Given the description of an element on the screen output the (x, y) to click on. 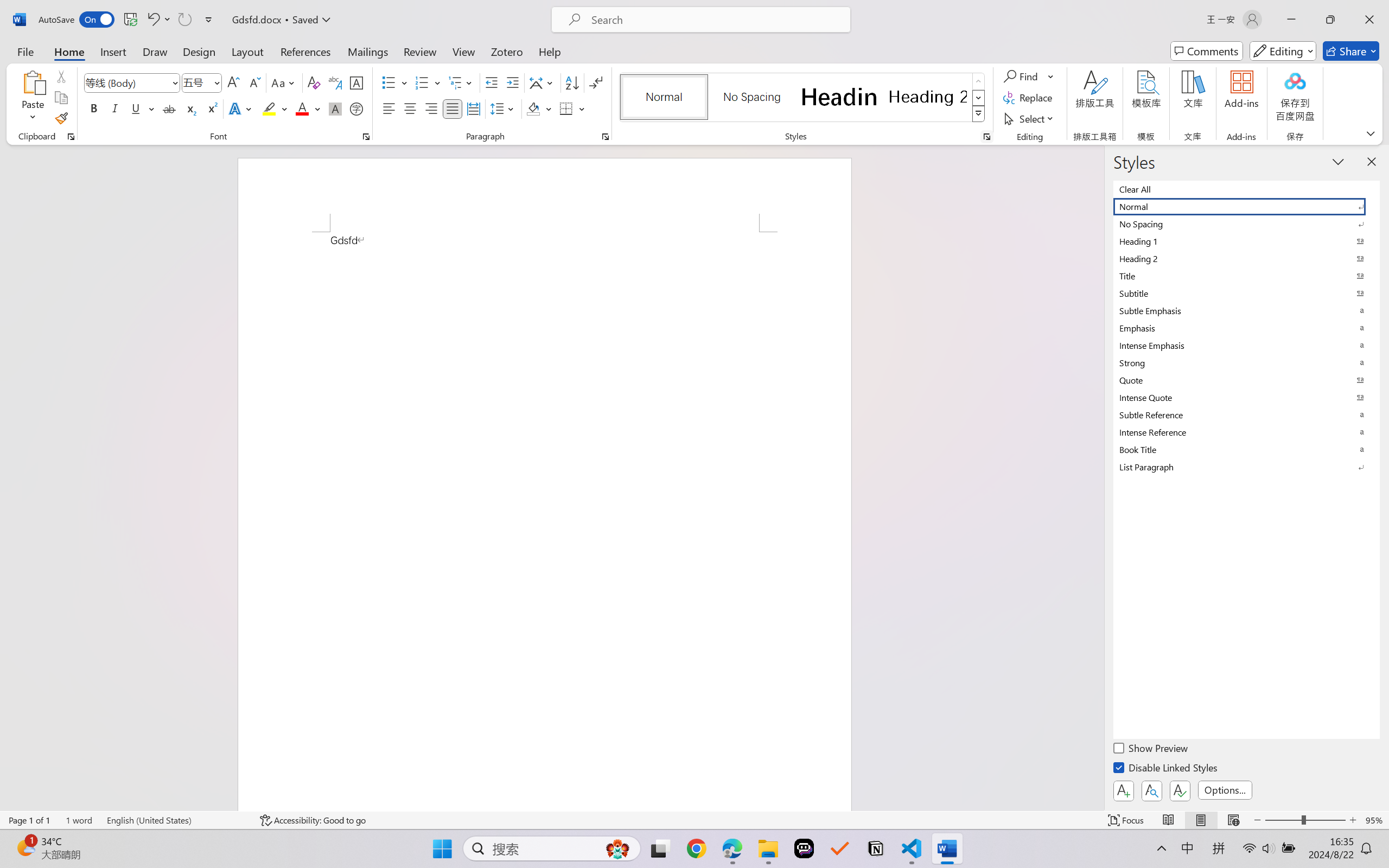
Asian Layout (542, 82)
Subtle Reference (1246, 414)
Styles... (986, 136)
Align Right (431, 108)
Text Effects and Typography (241, 108)
Styles (978, 113)
AutomationID: QuickStylesGallery (802, 97)
Strikethrough (169, 108)
Format Painter (60, 118)
Cut (60, 75)
Decrease Indent (491, 82)
